Given the description of an element on the screen output the (x, y) to click on. 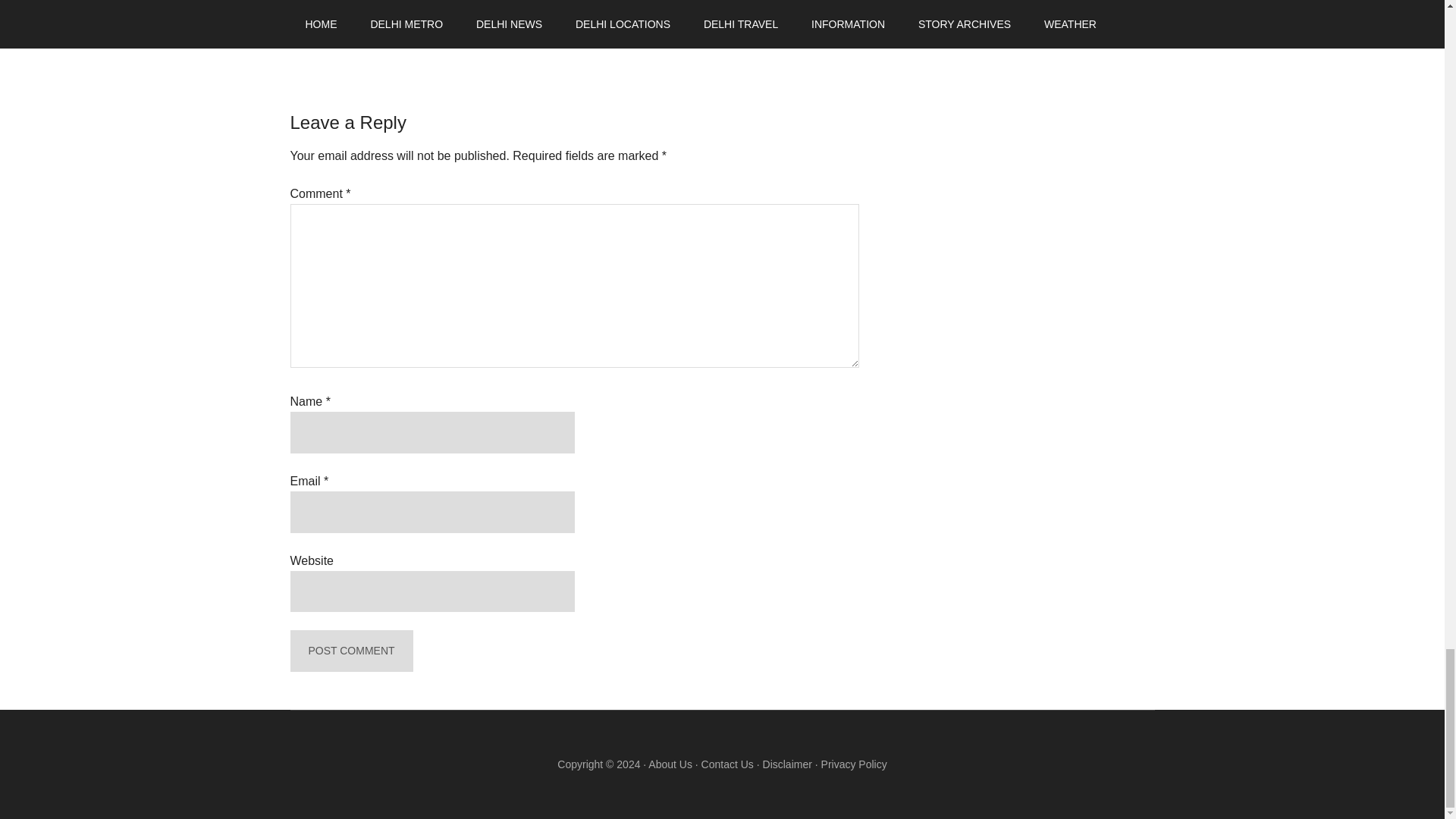
Post Comment (350, 650)
Delhi Travel (372, 39)
Post Comment (350, 650)
